Given the description of an element on the screen output the (x, y) to click on. 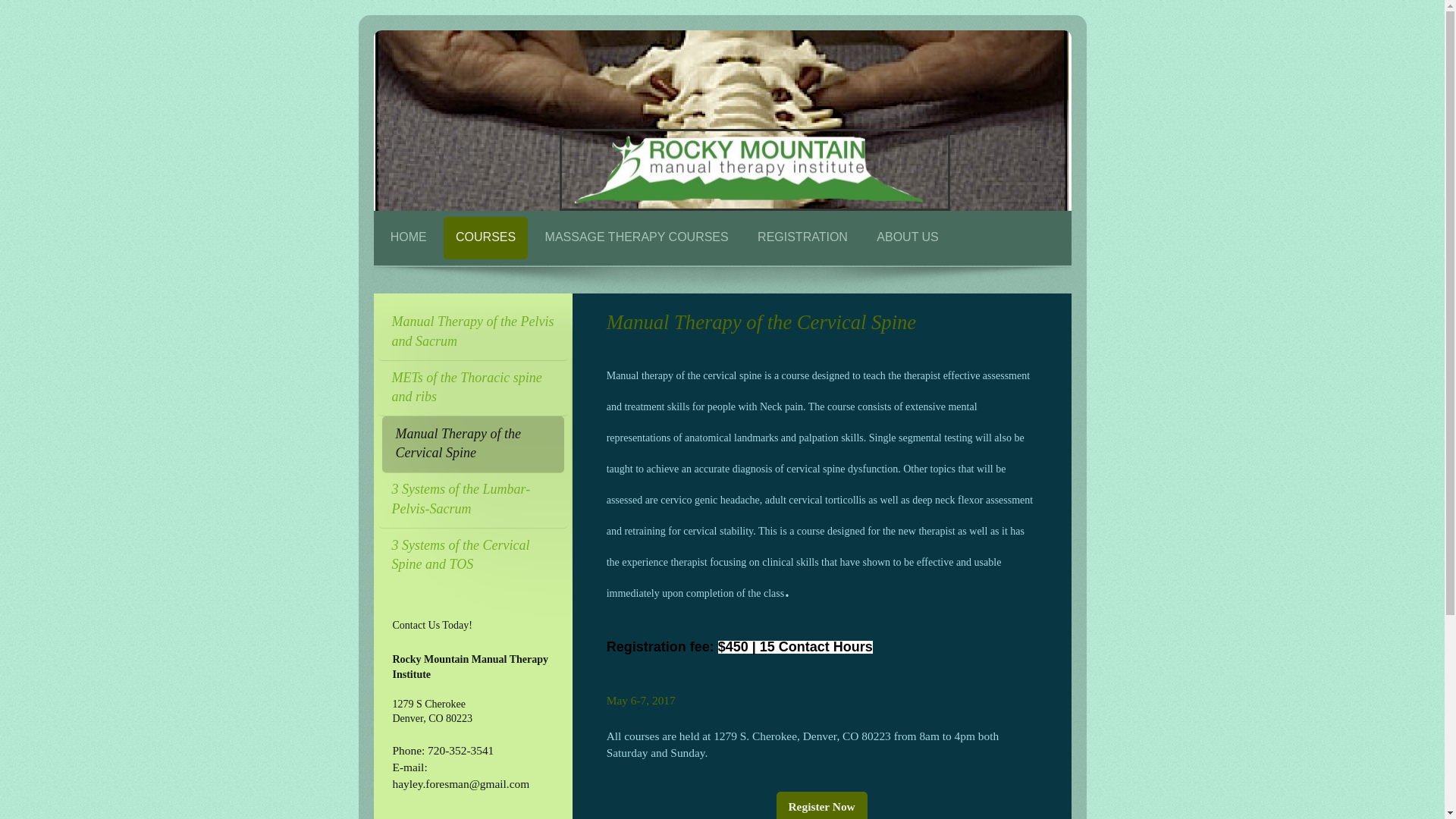
3 Systems of the Lumbar-Pelvis-Sacrum (472, 500)
Register Now (821, 805)
ABOUT US (907, 238)
REGISTRATION (802, 238)
COURSES (485, 238)
HOME (408, 238)
Manual Therapy of the Pelvis and Sacrum (472, 332)
METs of the Thoracic spine and ribs (472, 388)
3 Systems of the Cervical Spine and TOS (472, 555)
MASSAGE THERAPY COURSES (636, 238)
Manual Therapy of the Cervical Spine (472, 444)
